Given the description of an element on the screen output the (x, y) to click on. 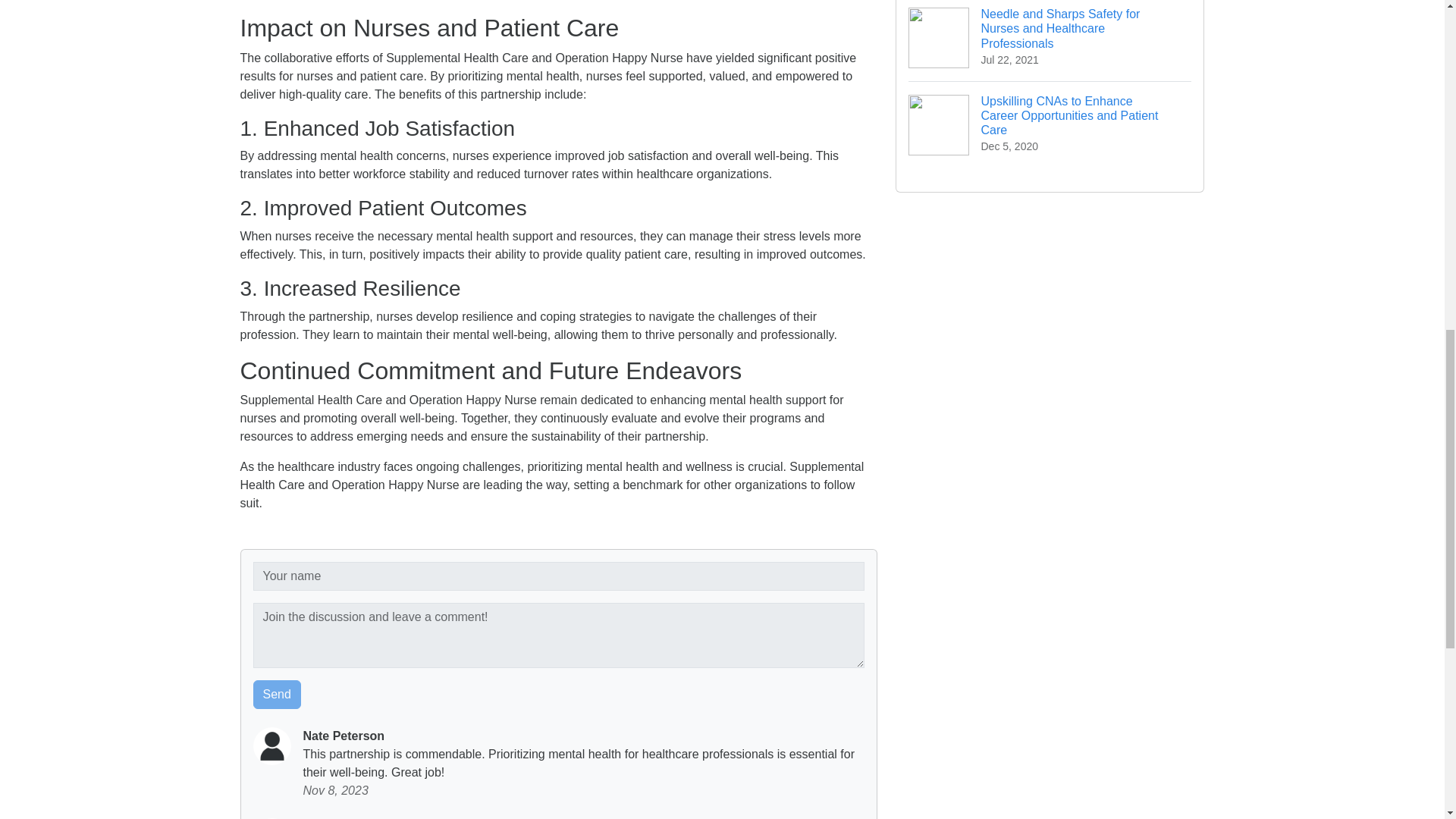
Send (277, 694)
Send (277, 694)
